Given the description of an element on the screen output the (x, y) to click on. 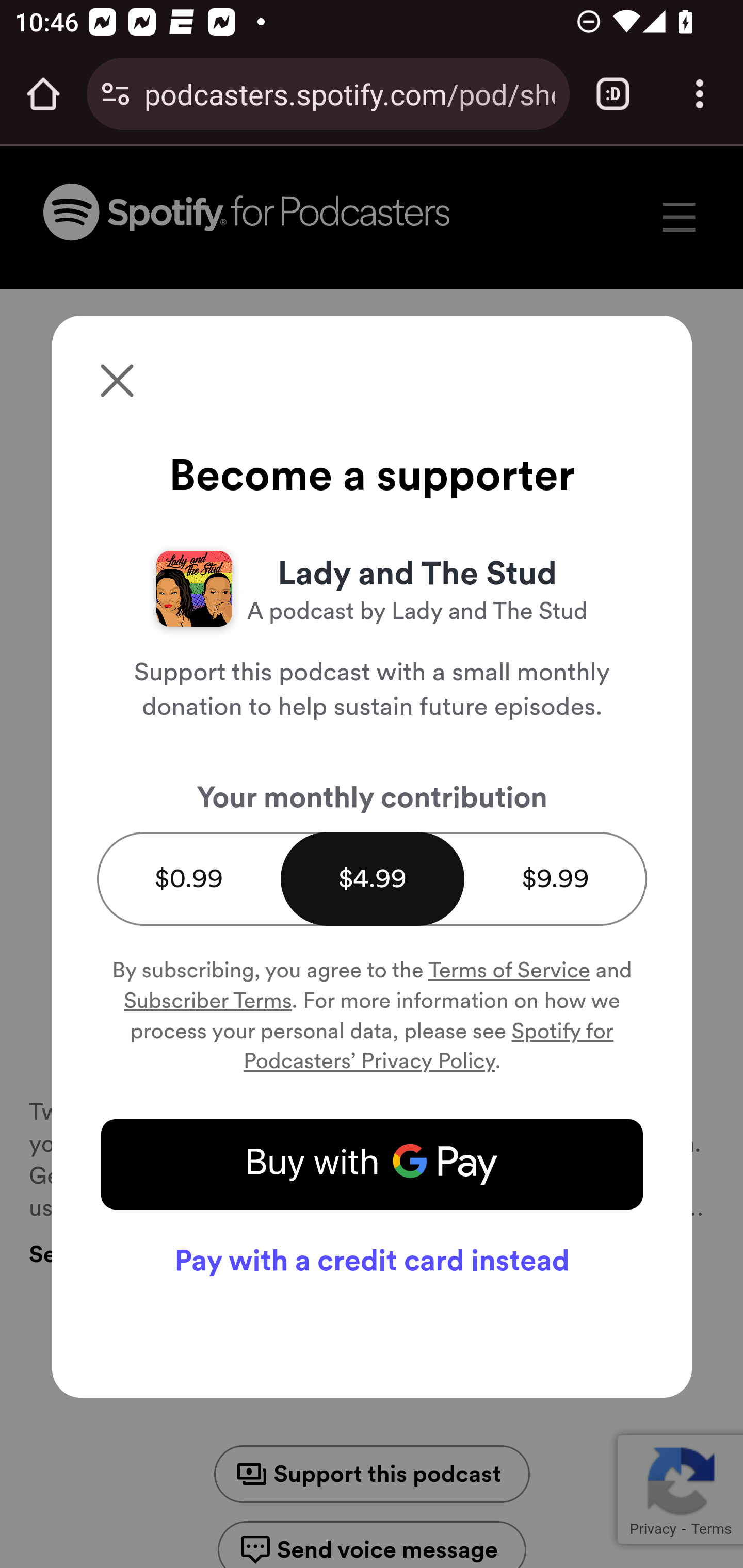
Open the home page (43, 93)
Connection is secure (115, 93)
Switch or close tabs (612, 93)
Customize and control Google Chrome (699, 93)
